Given the description of an element on the screen output the (x, y) to click on. 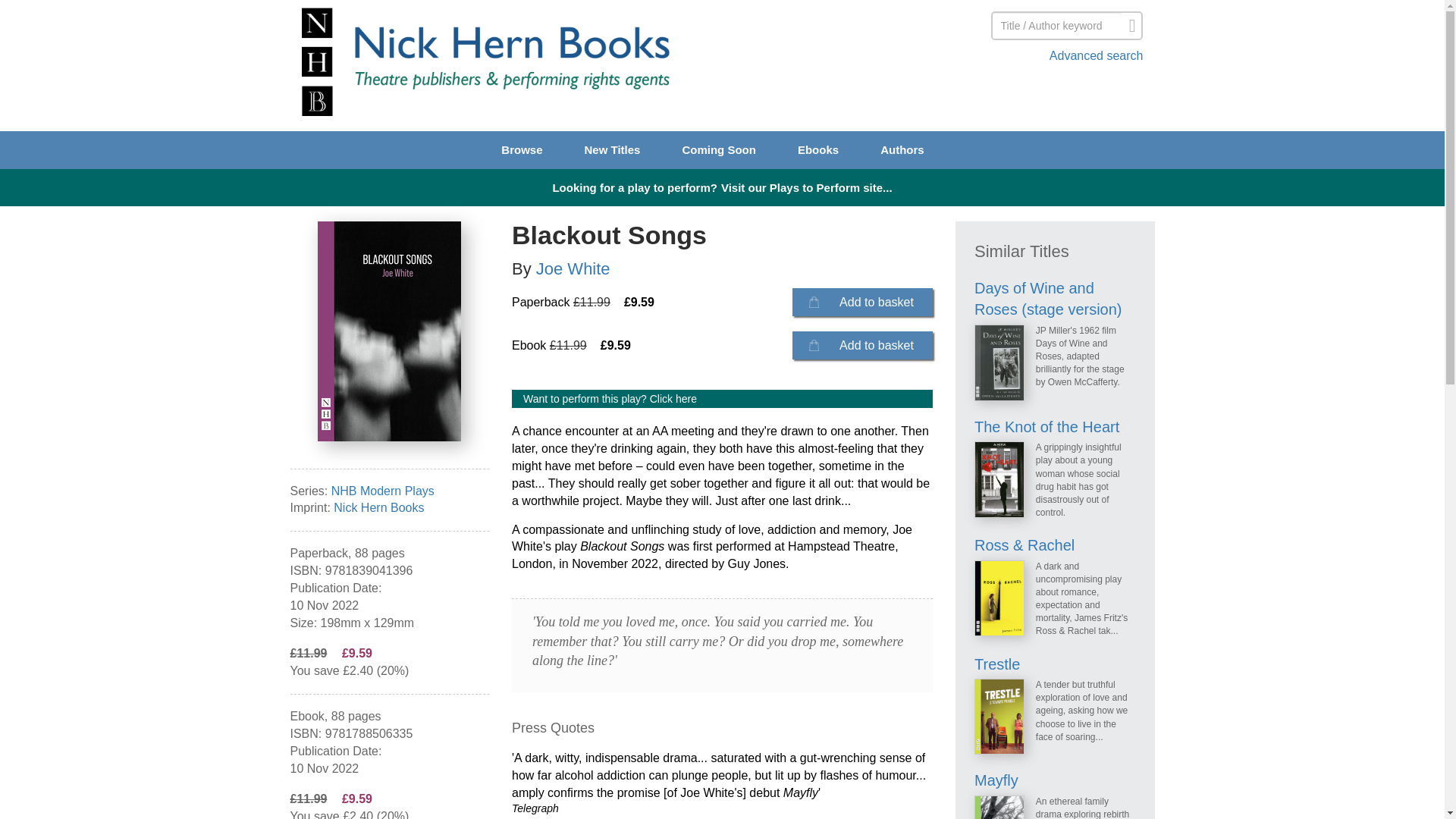
Browse (521, 149)
Advanced search (1013, 56)
